Given the description of an element on the screen output the (x, y) to click on. 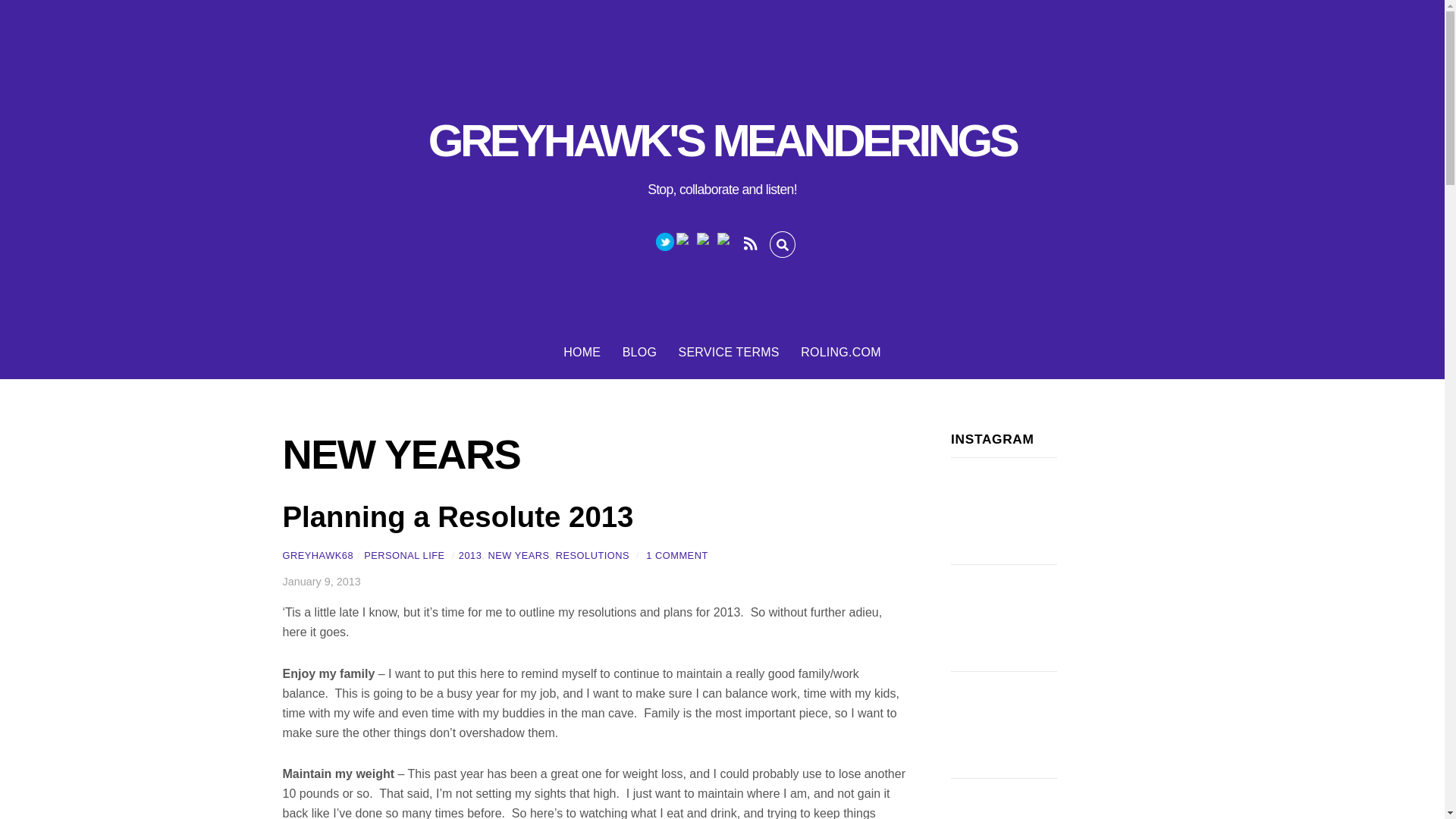
Planning a Resolute 2013 (457, 516)
RSS (749, 241)
1 COMMENT (676, 555)
RESOLUTIONS (592, 555)
PERSONAL LIFE (404, 555)
Saw a doggo on a fire escape on my morning walk at work (1003, 798)
Think the younger generation have seen one? (1003, 724)
Some really cool artwork on my hotel wall (1003, 617)
Greyhawk's Meanderings (722, 140)
